Given the description of an element on the screen output the (x, y) to click on. 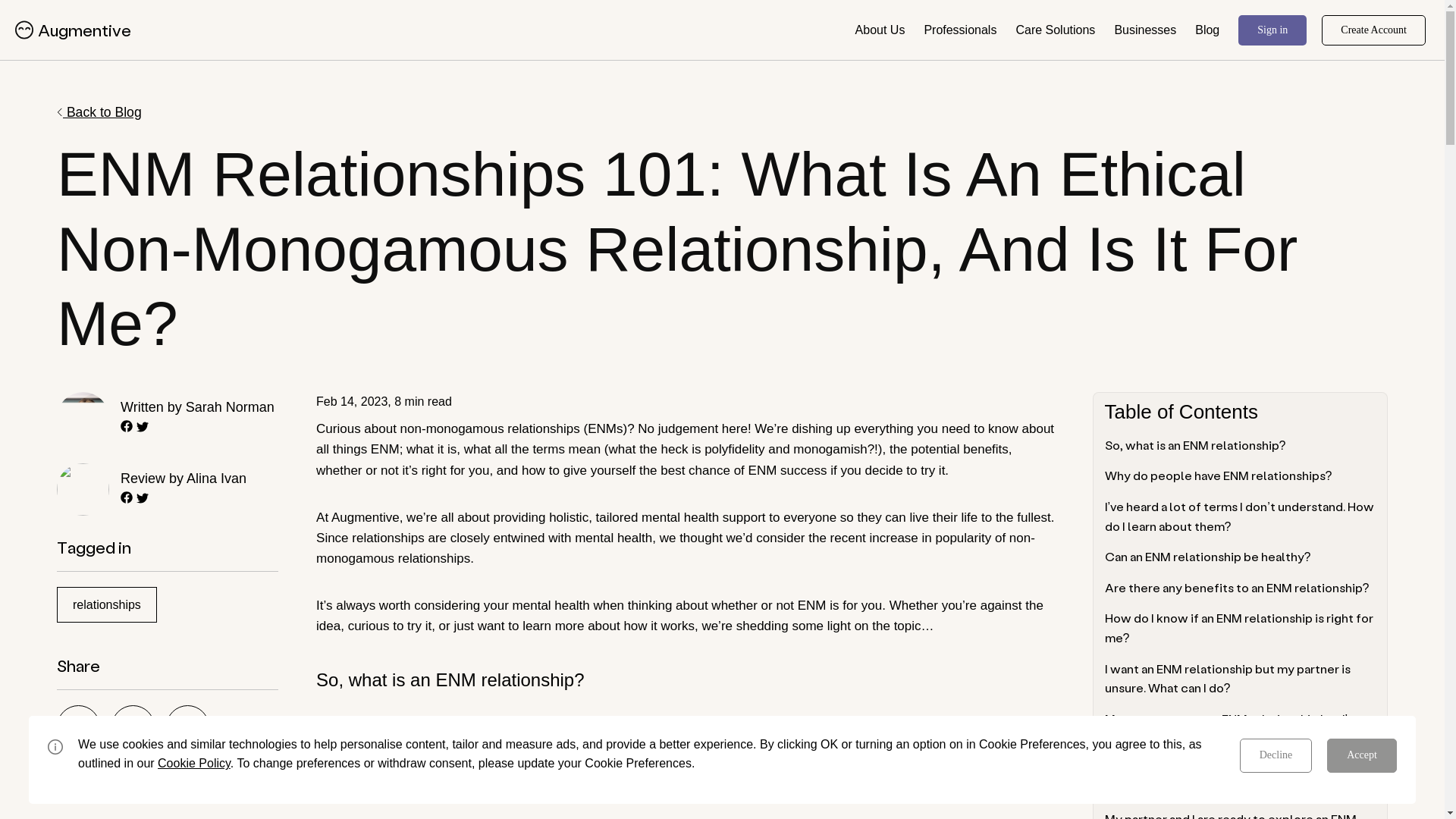
Accept (1361, 755)
Cookie Policy (193, 762)
Businesses (1144, 30)
Back to Blog (98, 111)
About Us (880, 30)
Sign in (1272, 30)
Decline (1276, 755)
Augmentive (90, 29)
Care Solutions (1054, 30)
Professionals (959, 30)
